Given the description of an element on the screen output the (x, y) to click on. 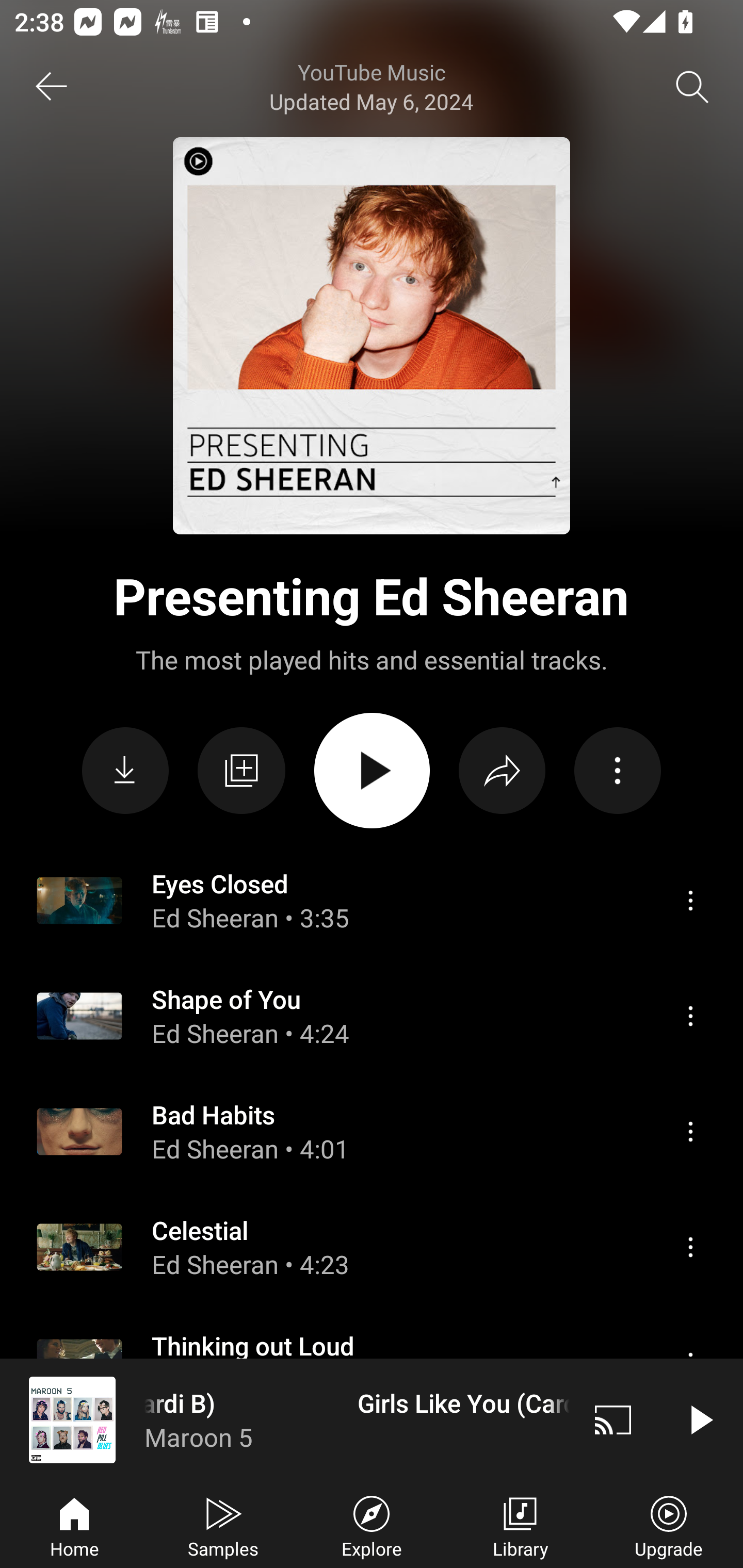
Back (50, 86)
Search (692, 86)
PLAY ALL (371, 770)
Download (125, 770)
Share (501, 770)
Action menu (617, 770)
Save to library (241, 770)
Menu (690, 899)
Menu (690, 1016)
Menu (690, 1132)
Menu (690, 1246)
Cast. Disconnected (612, 1419)
Play video (699, 1419)
Home (74, 1524)
Samples (222, 1524)
Explore (371, 1524)
Library (519, 1524)
Upgrade (668, 1524)
